Given the description of an element on the screen output the (x, y) to click on. 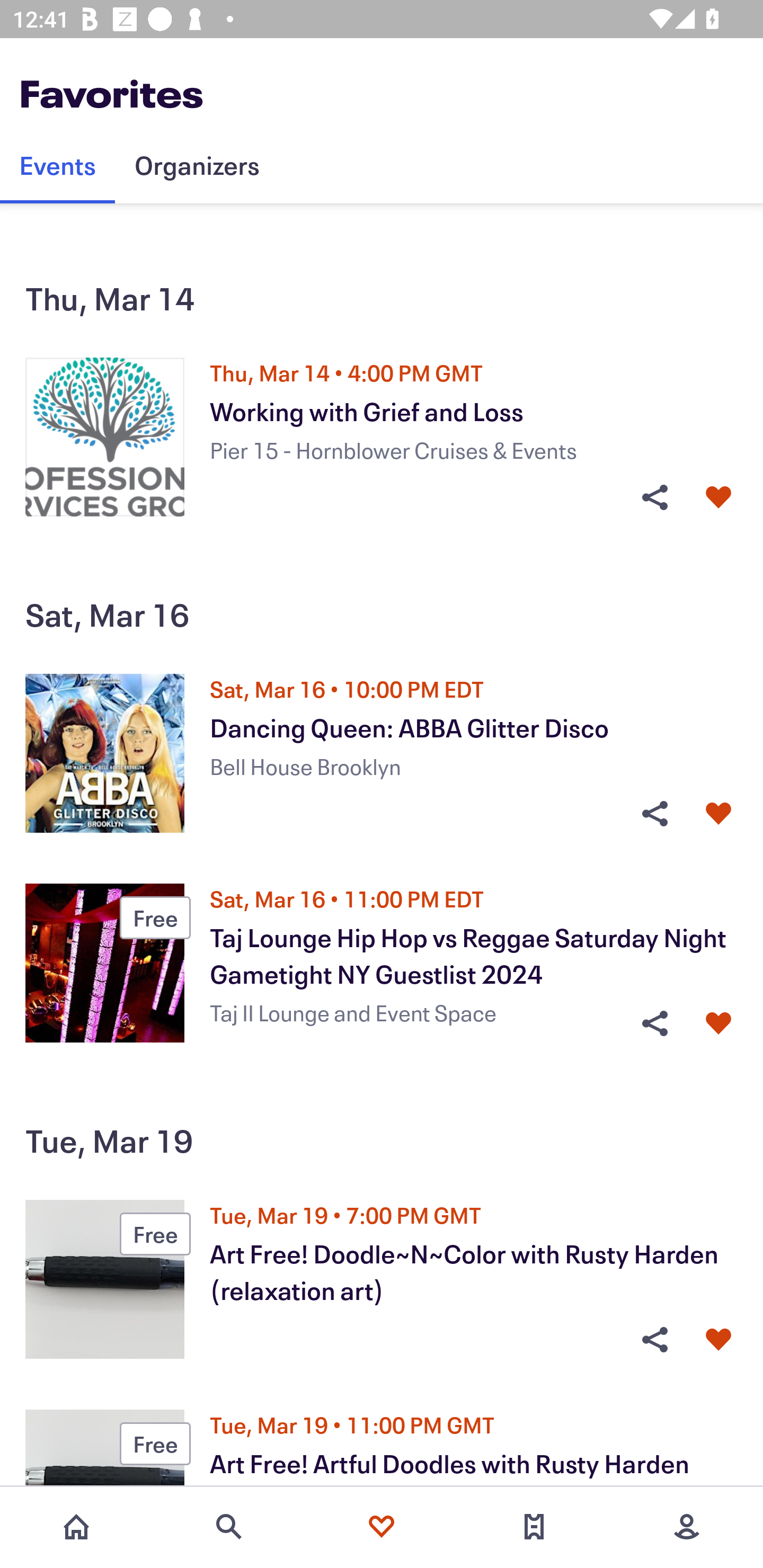
Organizers (196, 165)
Share Event (654, 496)
Unlike event (718, 496)
Share Event (654, 813)
Unlike event (718, 813)
Share Event (654, 1023)
Unlike event (718, 1023)
Share Event (654, 1339)
Unlike event (718, 1339)
Home (76, 1526)
Search events (228, 1526)
Favorites (381, 1526)
Tickets (533, 1526)
More (686, 1526)
